Given the description of an element on the screen output the (x, y) to click on. 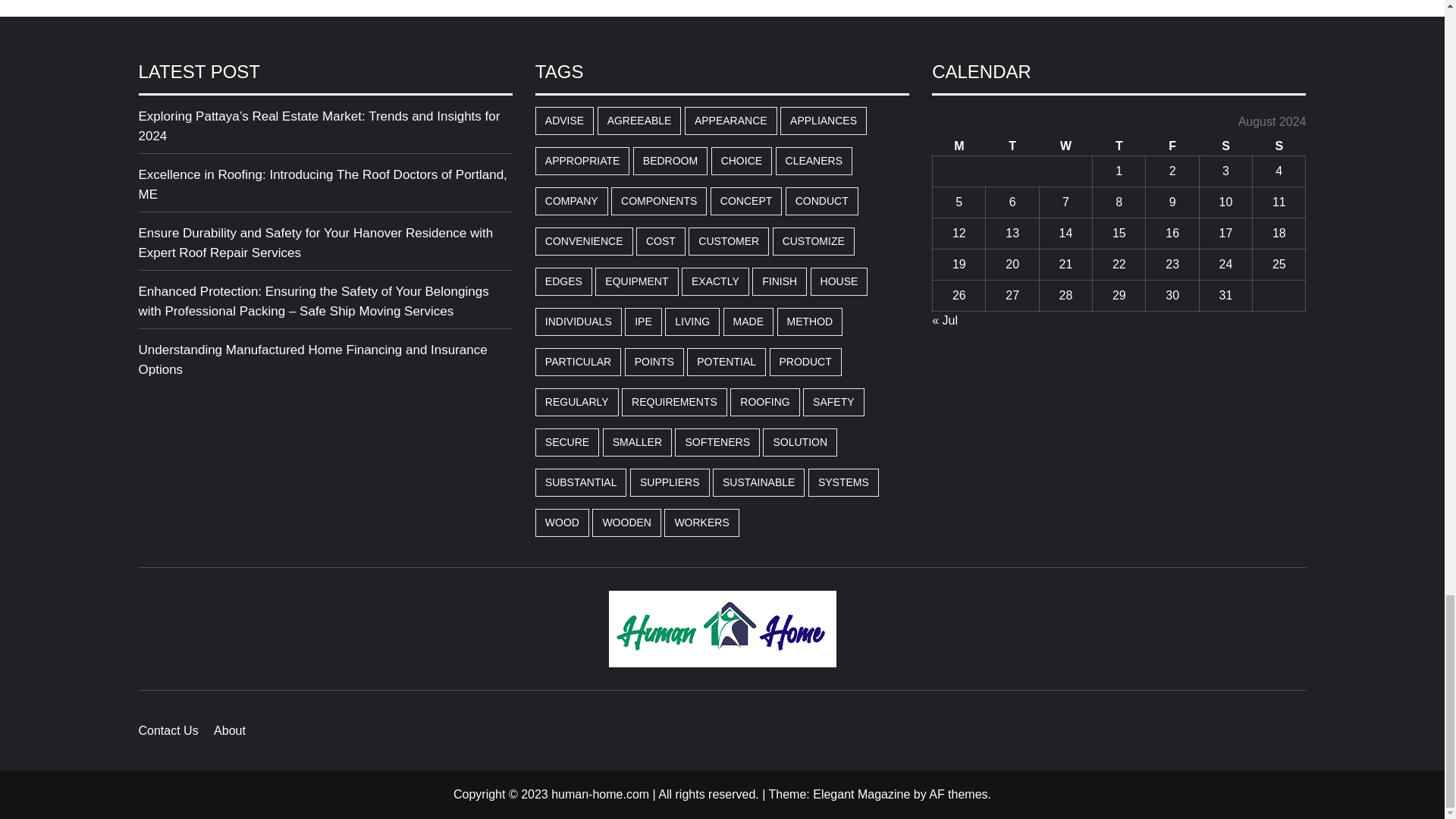
Tuesday (1012, 146)
Monday (959, 146)
Wednesday (1065, 146)
Saturday (1225, 146)
Thursday (1119, 146)
Sunday (1279, 146)
Friday (1171, 146)
